Given the description of an element on the screen output the (x, y) to click on. 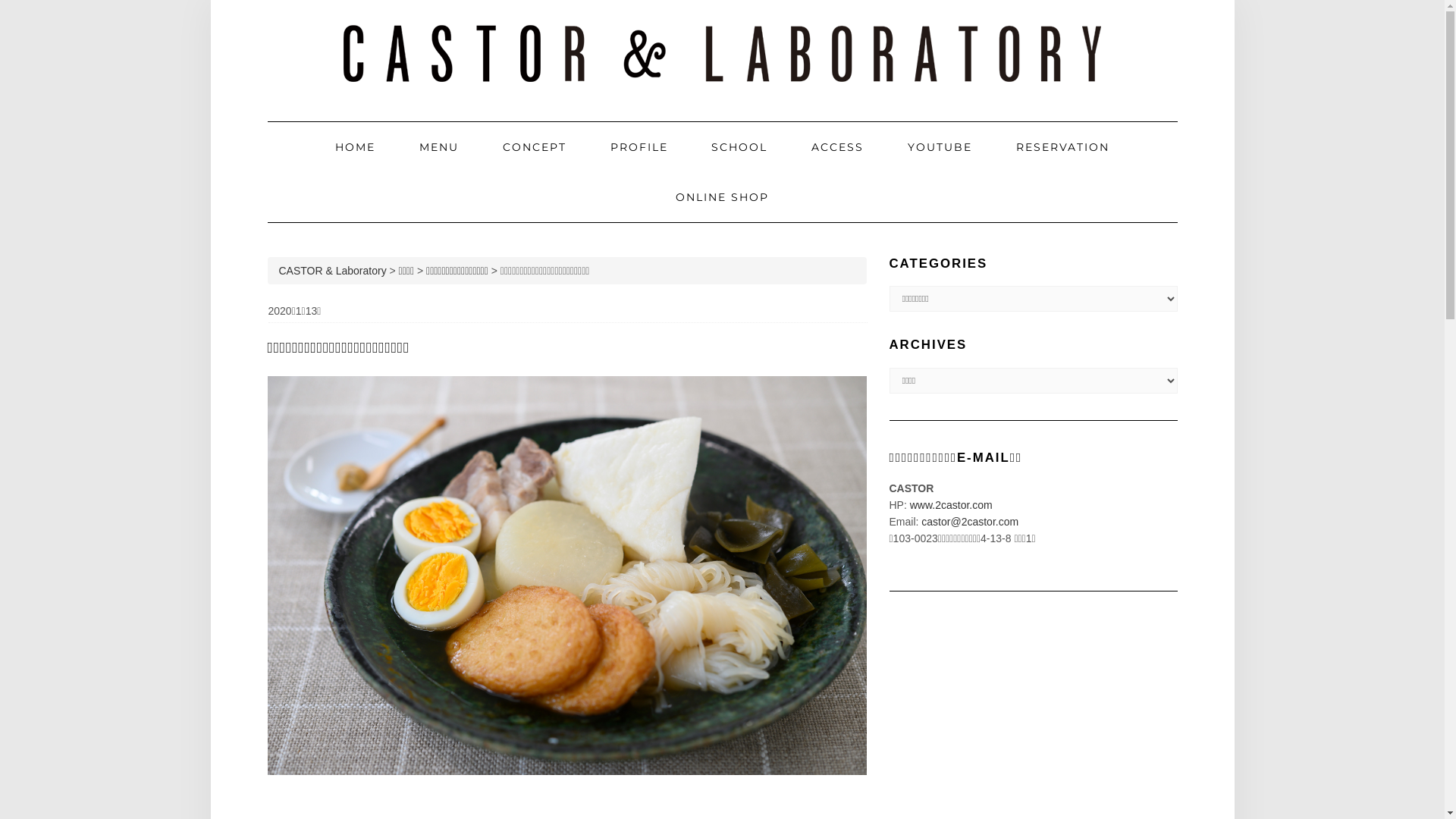
MENU Element type: text (438, 147)
castor@2castor.com Element type: text (969, 521)
www.2castor.com Element type: text (951, 504)
PROFILE Element type: text (638, 147)
SCHOOL Element type: text (738, 147)
RESERVATION Element type: text (1062, 147)
ONLINE SHOP Element type: text (722, 197)
CASTOR & Laboratory Element type: text (332, 271)
YOUTUBE Element type: text (939, 147)
ACCESS Element type: text (837, 147)
CONCEPT Element type: text (534, 147)
HOME Element type: text (354, 147)
